Given the description of an element on the screen output the (x, y) to click on. 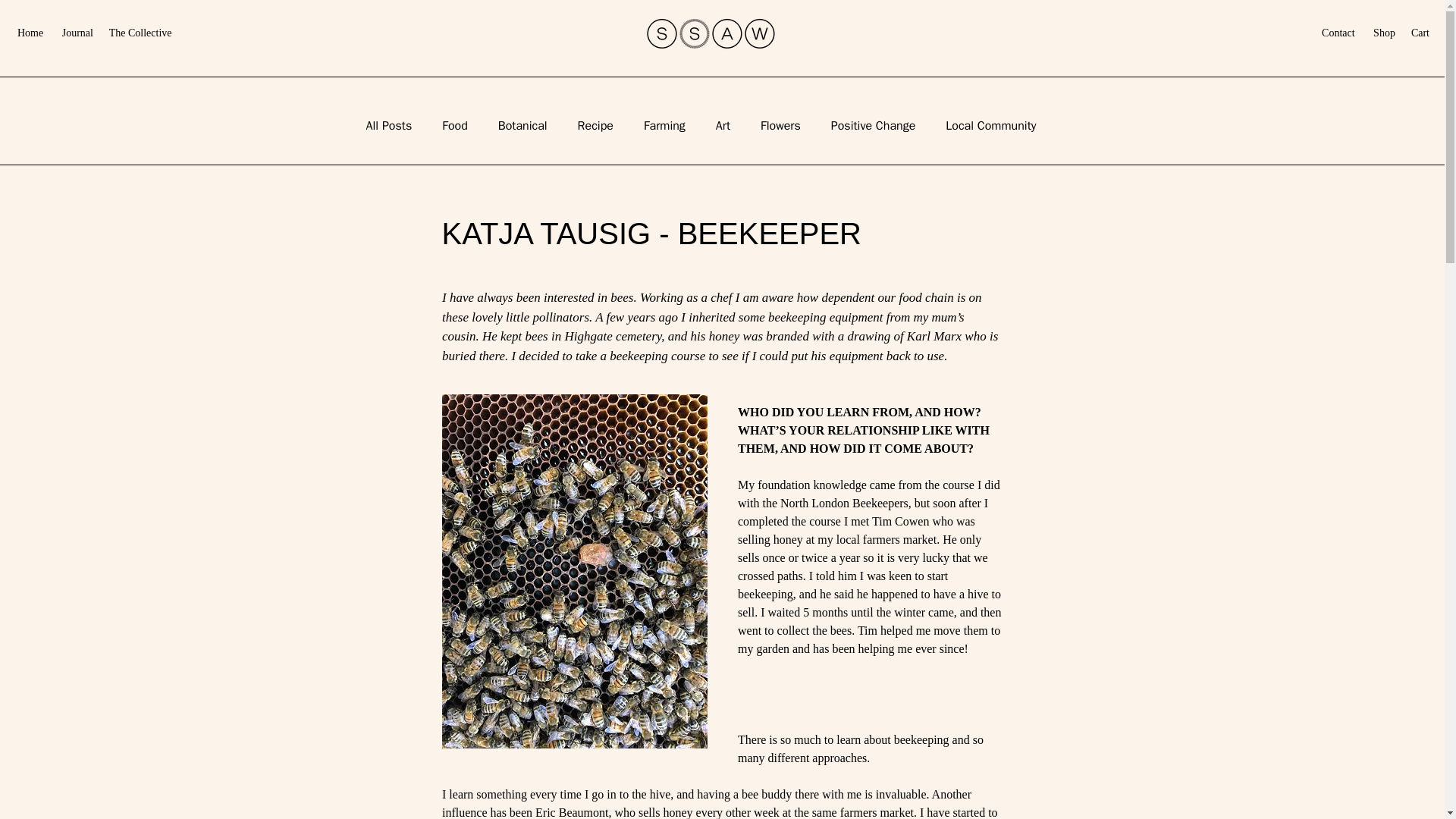
Shop (1383, 32)
Home (30, 32)
Art (723, 125)
All Posts (388, 125)
Flowers (780, 125)
Journal     (82, 32)
Botanical (522, 125)
Recipe (595, 125)
Food (454, 125)
Farming (664, 125)
